Given the description of an element on the screen output the (x, y) to click on. 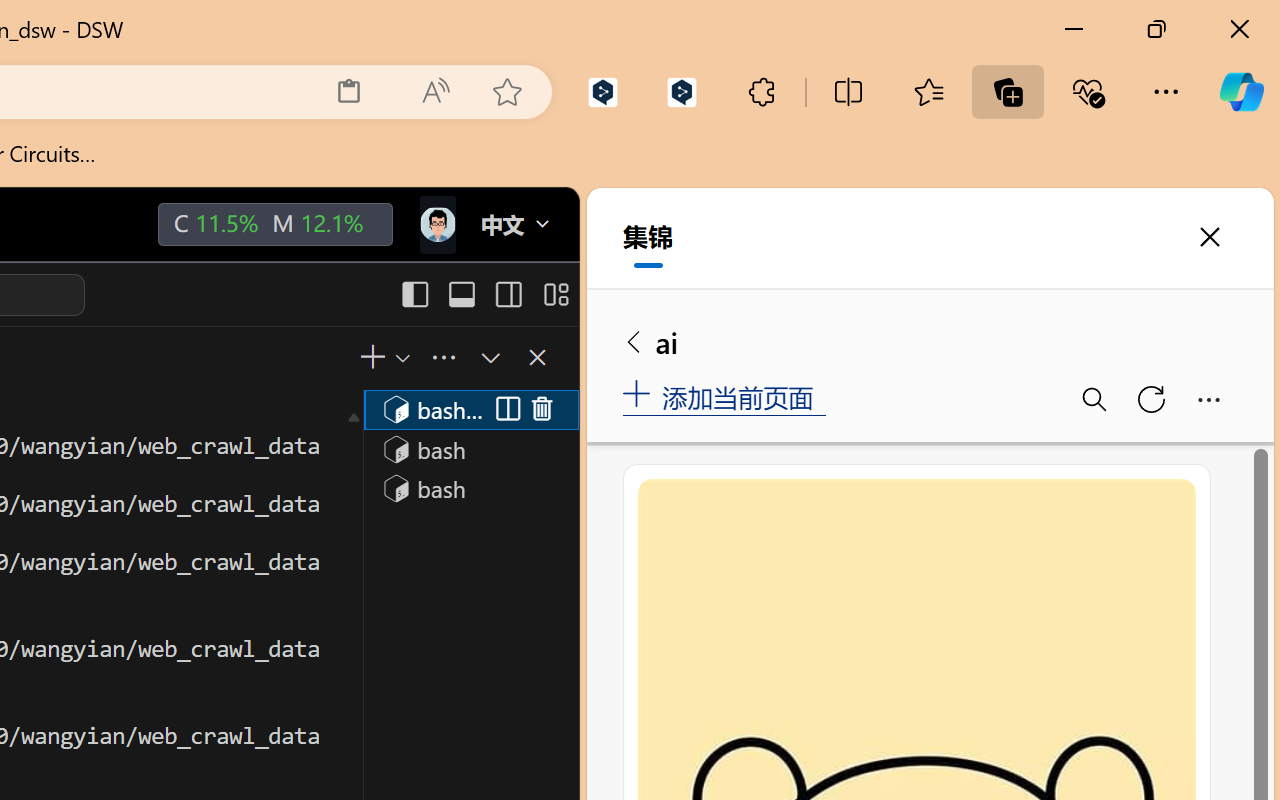
Terminal 1 bash (470, 409)
Customize Layout... (553, 294)
icon (436, 224)
Launch Profile... (401, 357)
Title actions (484, 294)
icon (436, 220)
